Given the description of an element on the screen output the (x, y) to click on. 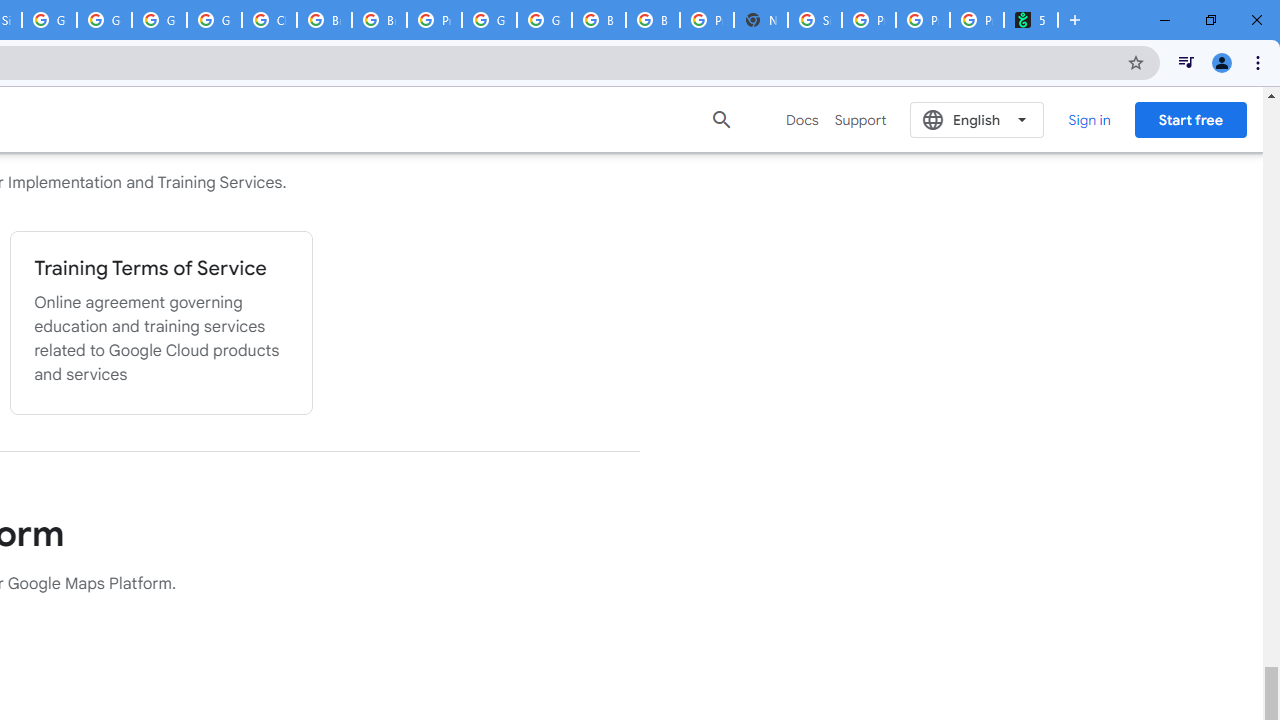
Sign in - Google Accounts (815, 20)
New Tab (760, 20)
Google Cloud Platform (544, 20)
Google Cloud Platform (489, 20)
